Given the description of an element on the screen output the (x, y) to click on. 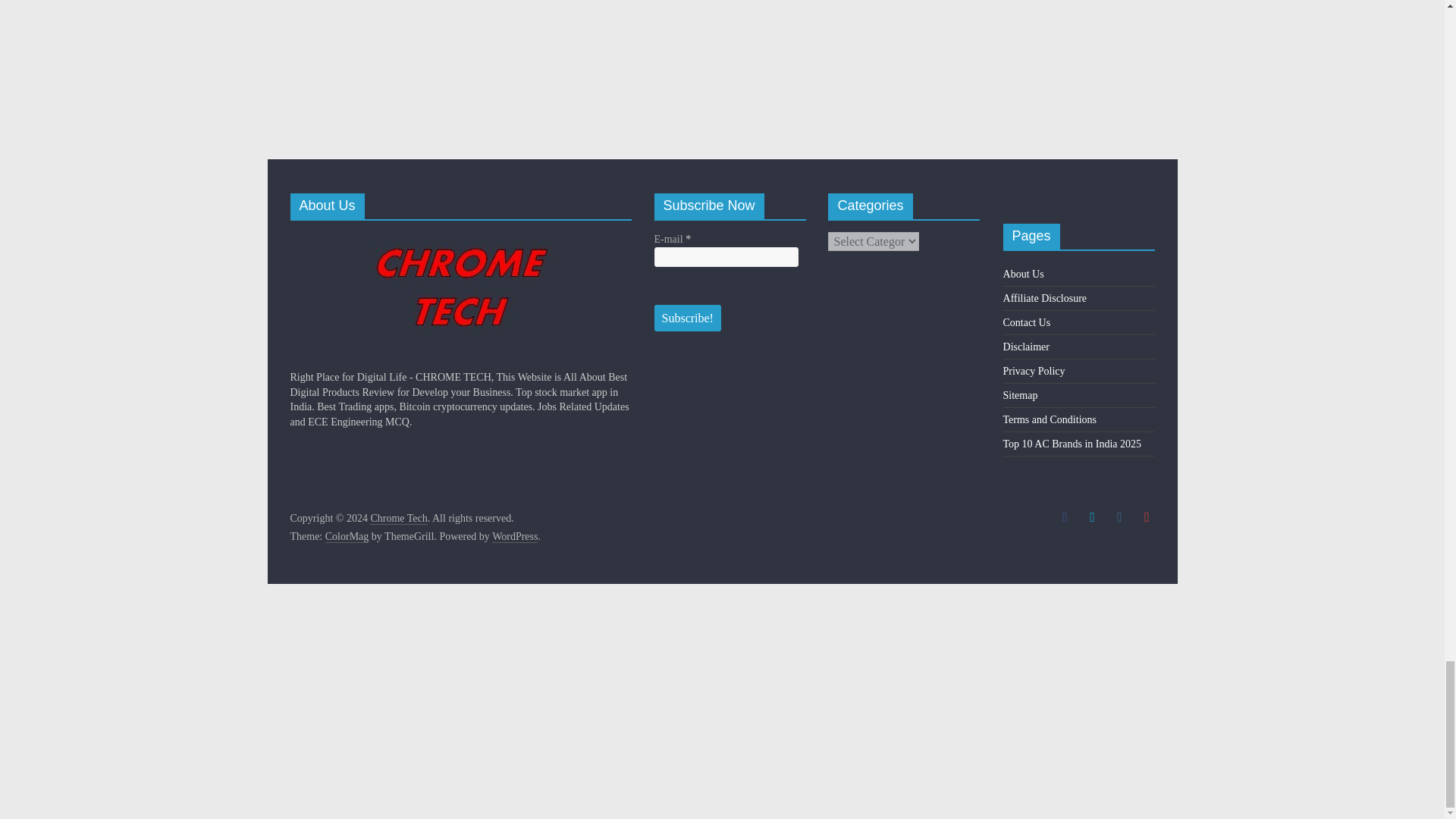
Subscribe! (686, 318)
